Given the description of an element on the screen output the (x, y) to click on. 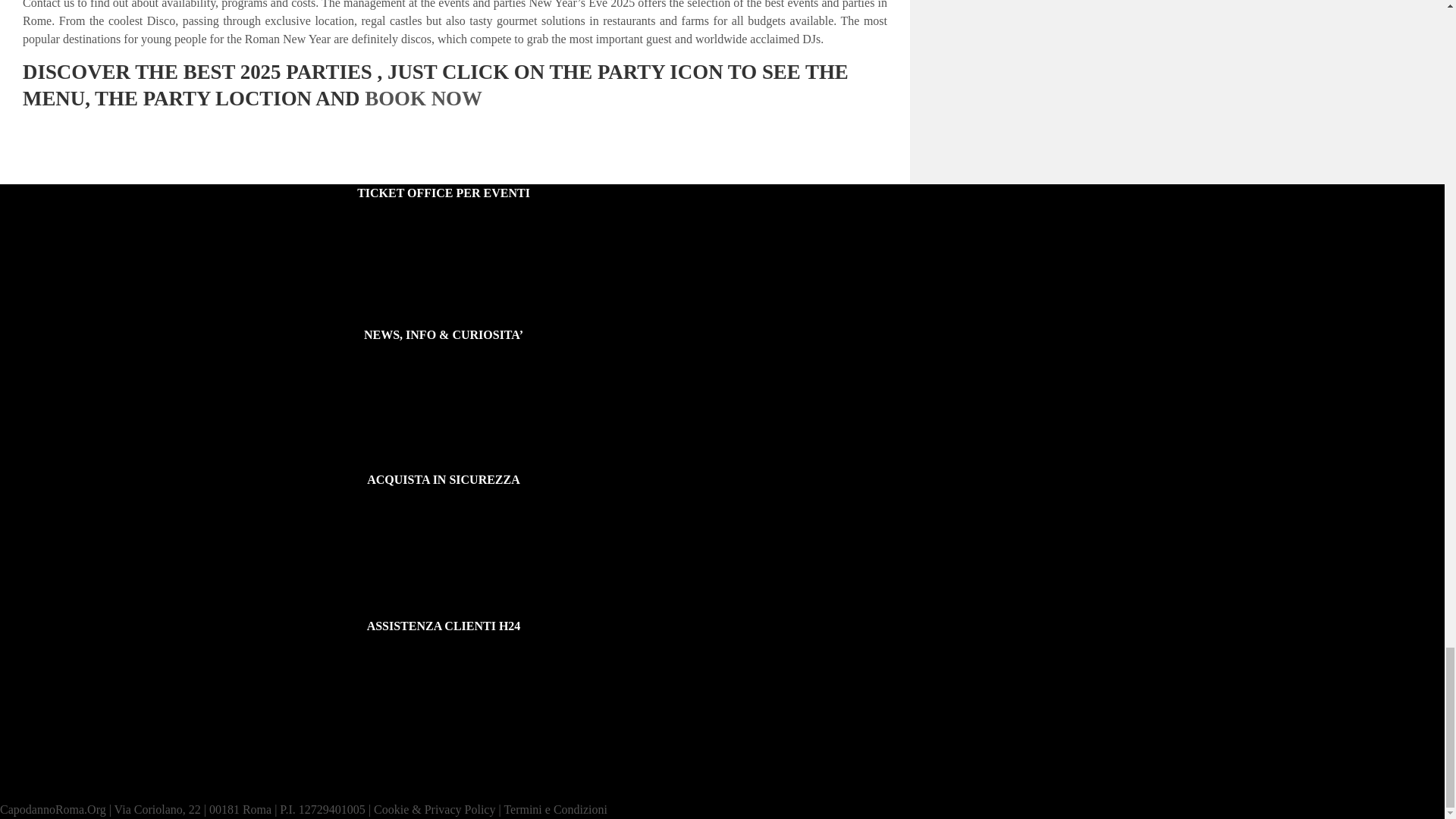
Privacy Policy (391, 809)
